Given the description of an element on the screen output the (x, y) to click on. 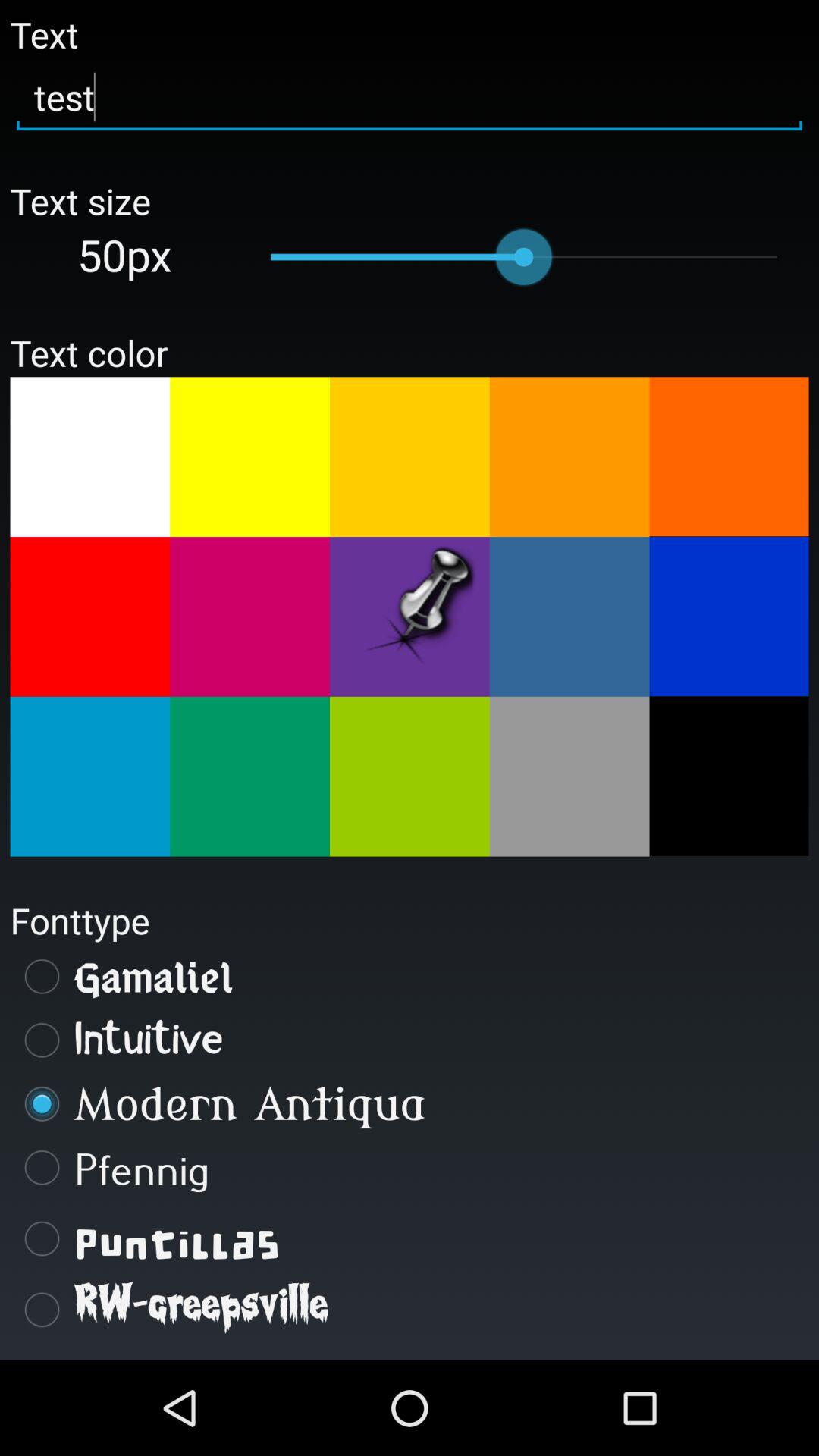
change text color (90, 776)
